Given the description of an element on the screen output the (x, y) to click on. 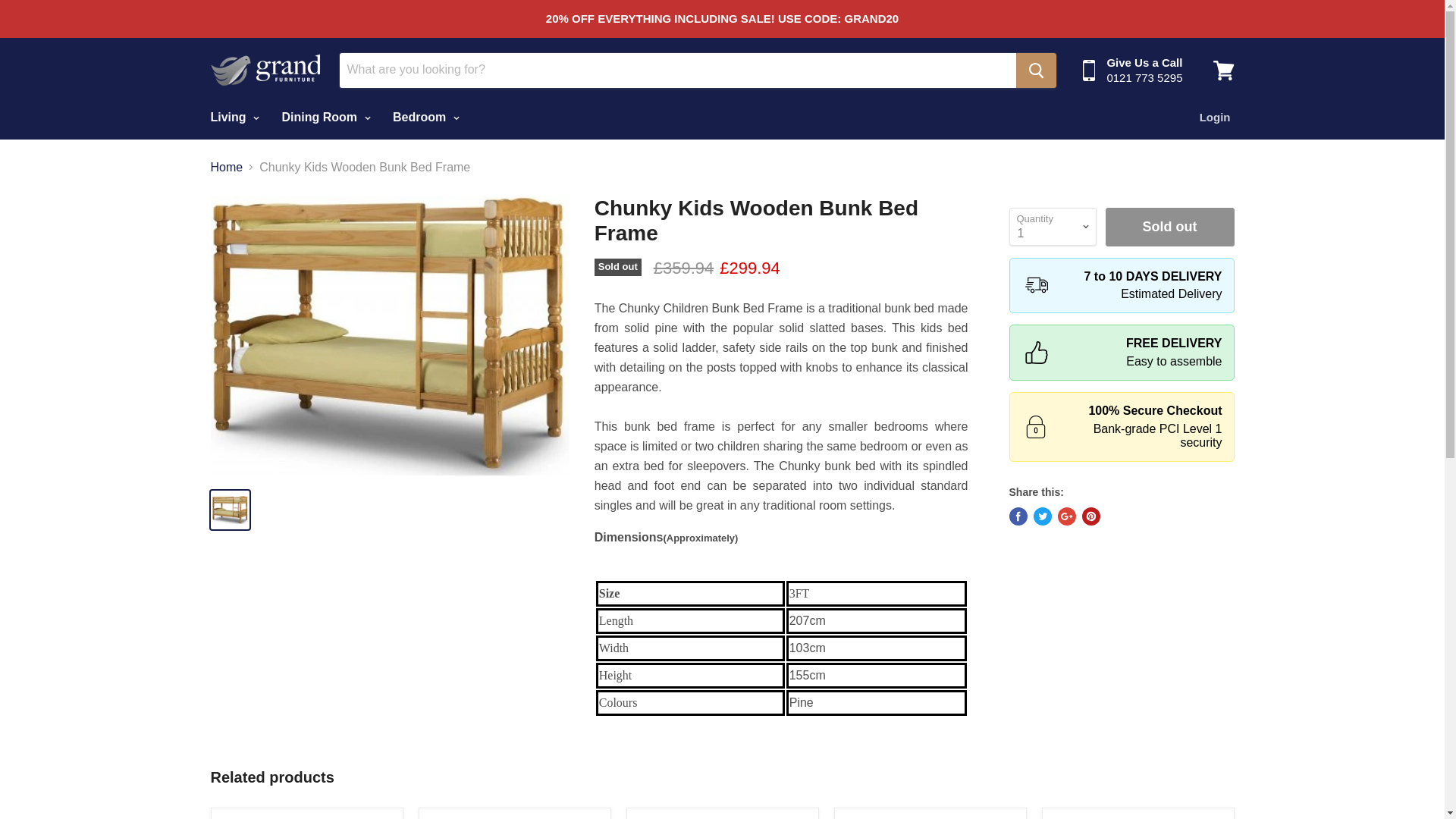
Login (1215, 117)
Dining Room (324, 117)
Living (232, 117)
Bedroom (424, 117)
View cart (1223, 70)
